Given the description of an element on the screen output the (x, y) to click on. 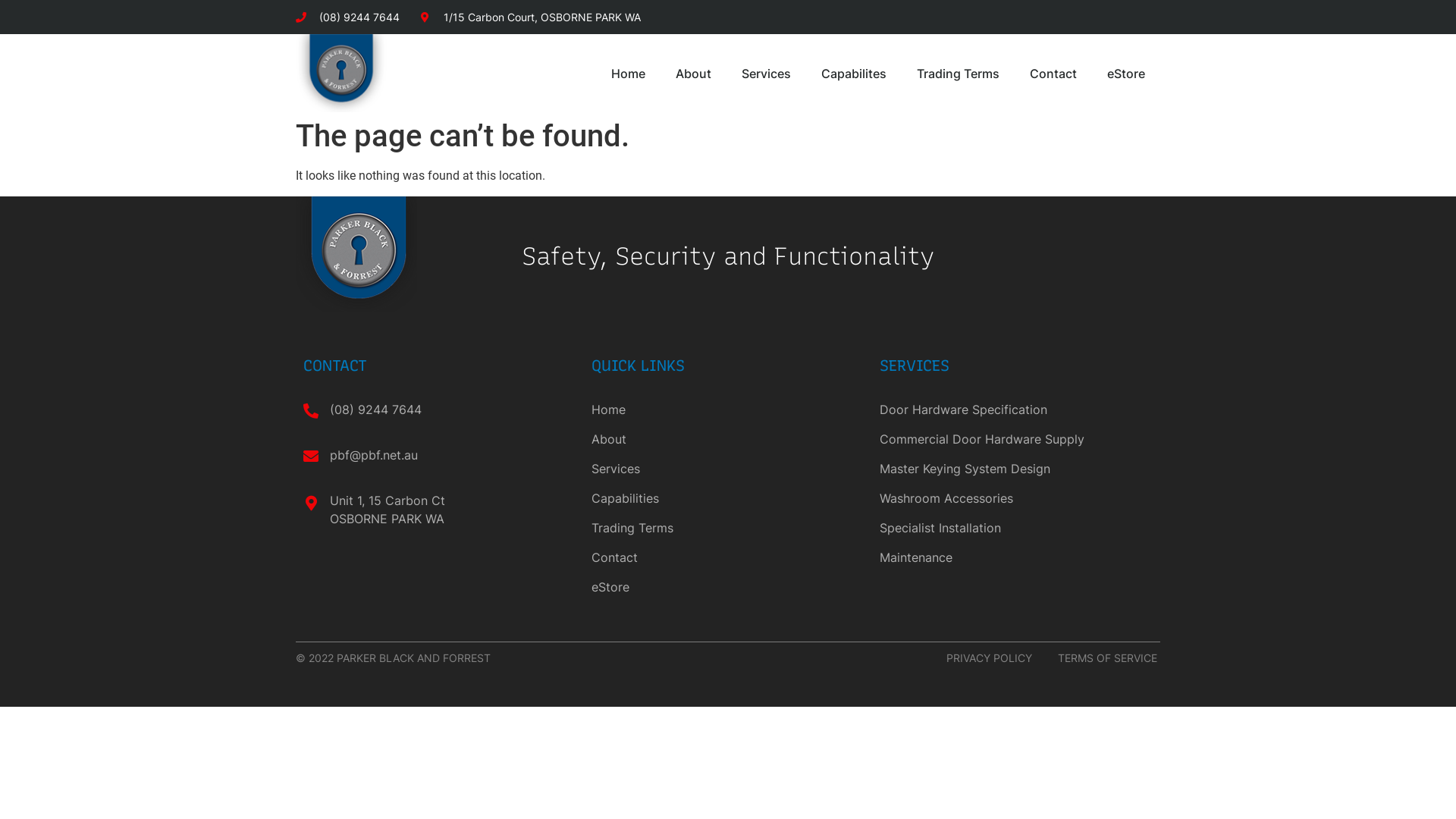
Trading Terms Element type: text (727, 527)
Contact Element type: text (727, 557)
Home Element type: text (628, 73)
Services Element type: text (727, 468)
About Element type: text (727, 438)
Capabilites Element type: text (853, 73)
Capabilities Element type: text (727, 498)
eStore Element type: text (1126, 73)
About Element type: text (693, 73)
Contact Element type: text (1053, 73)
1/15 Carbon Court, OSBORNE PARK WA Element type: text (530, 17)
Home Element type: text (727, 409)
Trading Terms Element type: text (957, 73)
eStore Element type: text (727, 586)
Services Element type: text (766, 73)
(08) 9244 7644 Element type: text (347, 17)
